Given the description of an element on the screen output the (x, y) to click on. 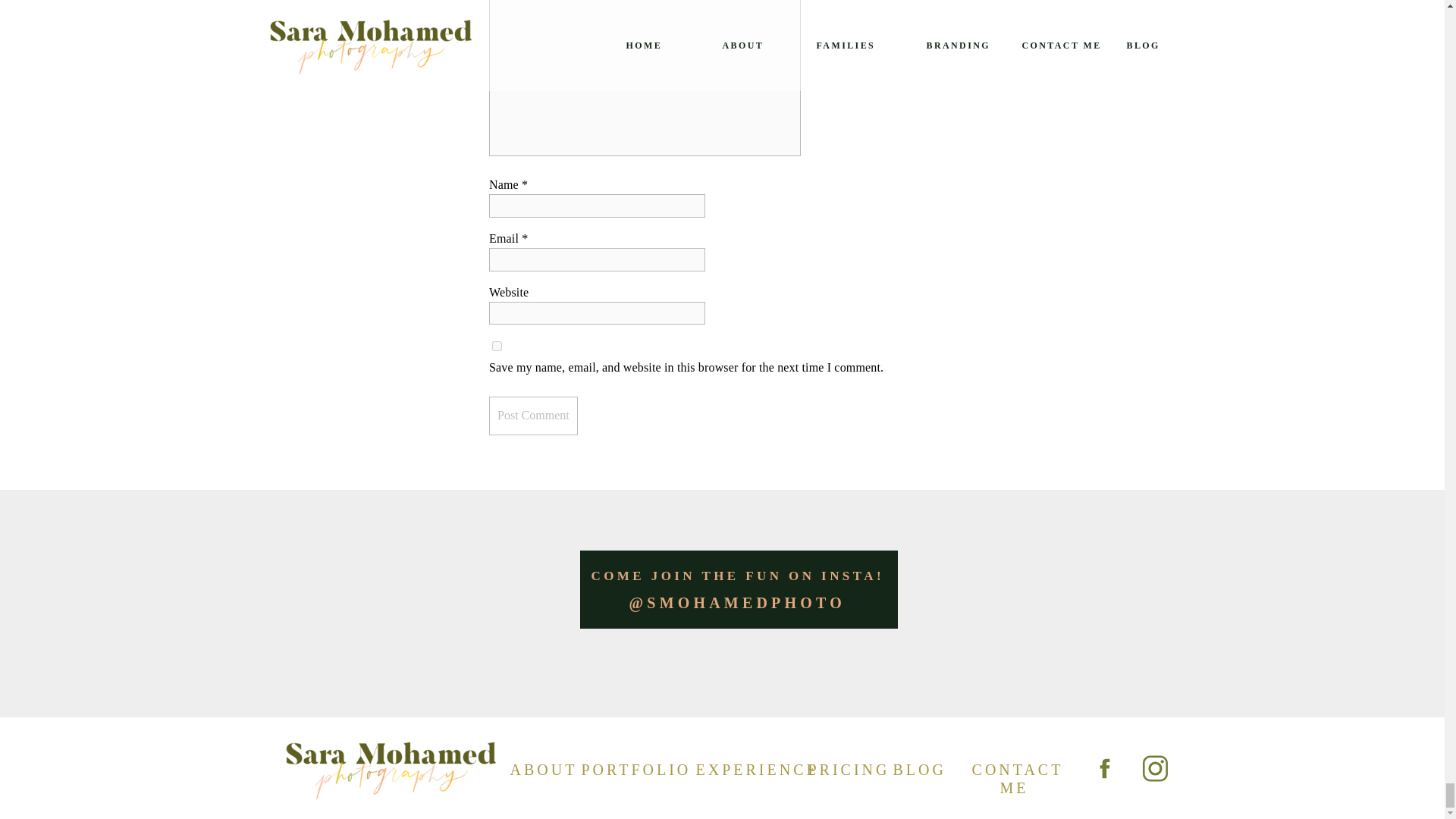
COME JOIN THE FUN ON INSTA! (771, 575)
EXPERIENCE  (742, 769)
PRICING (841, 769)
PORTFOLIO (628, 769)
CONTACT ME  (1017, 769)
ABOUT  (535, 769)
yes (497, 346)
Post Comment (533, 415)
BLOG (918, 769)
Post Comment (533, 415)
